Given the description of an element on the screen output the (x, y) to click on. 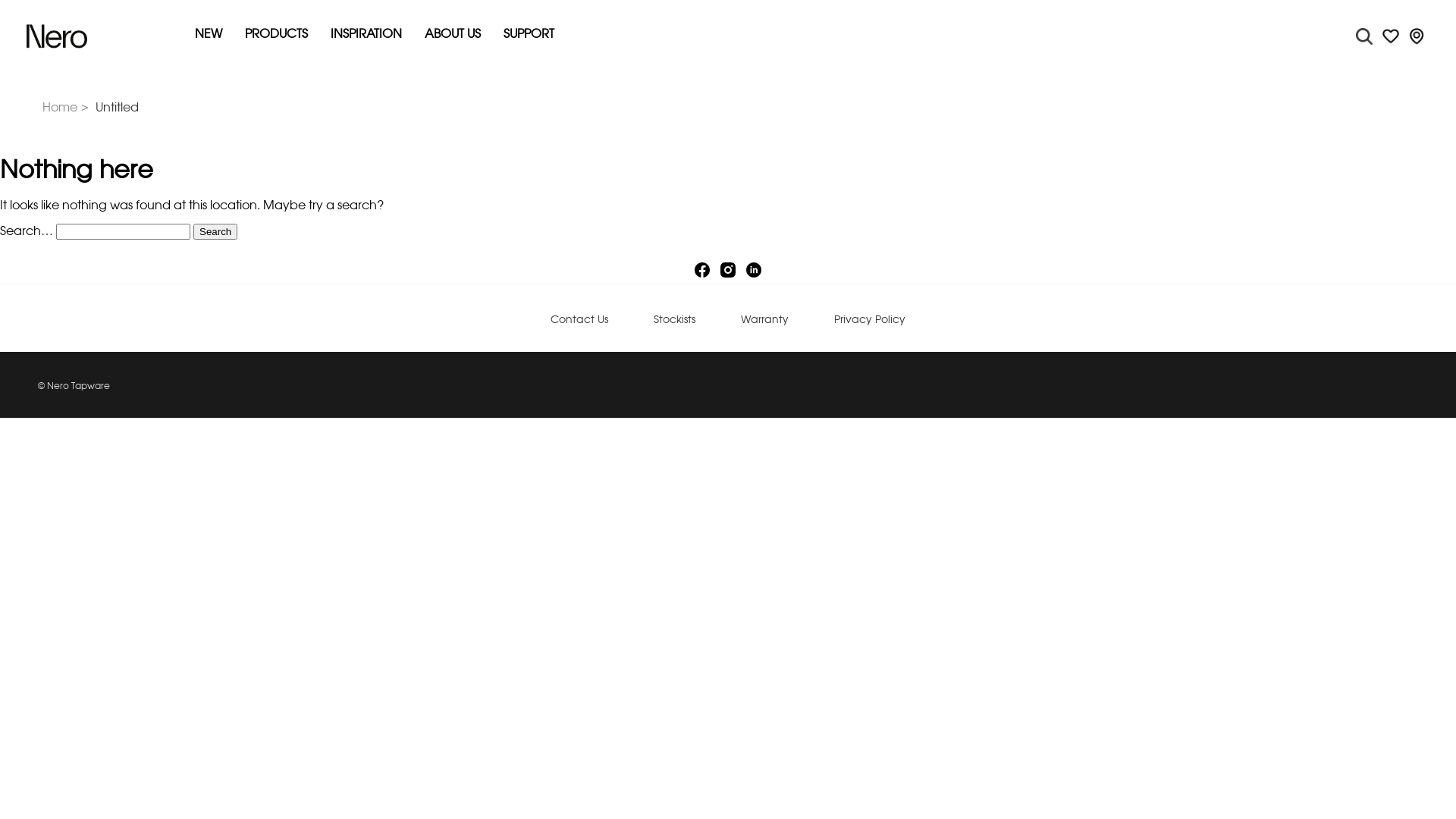
Home Element type: text (67, 107)
Search Element type: text (215, 231)
Warranty Element type: text (764, 319)
Untitled Element type: text (116, 107)
Stockists Element type: text (674, 319)
Privacy Policy Element type: text (869, 319)
Contact Us Element type: text (579, 319)
ABOUT US Element type: text (452, 34)
